Given the description of an element on the screen output the (x, y) to click on. 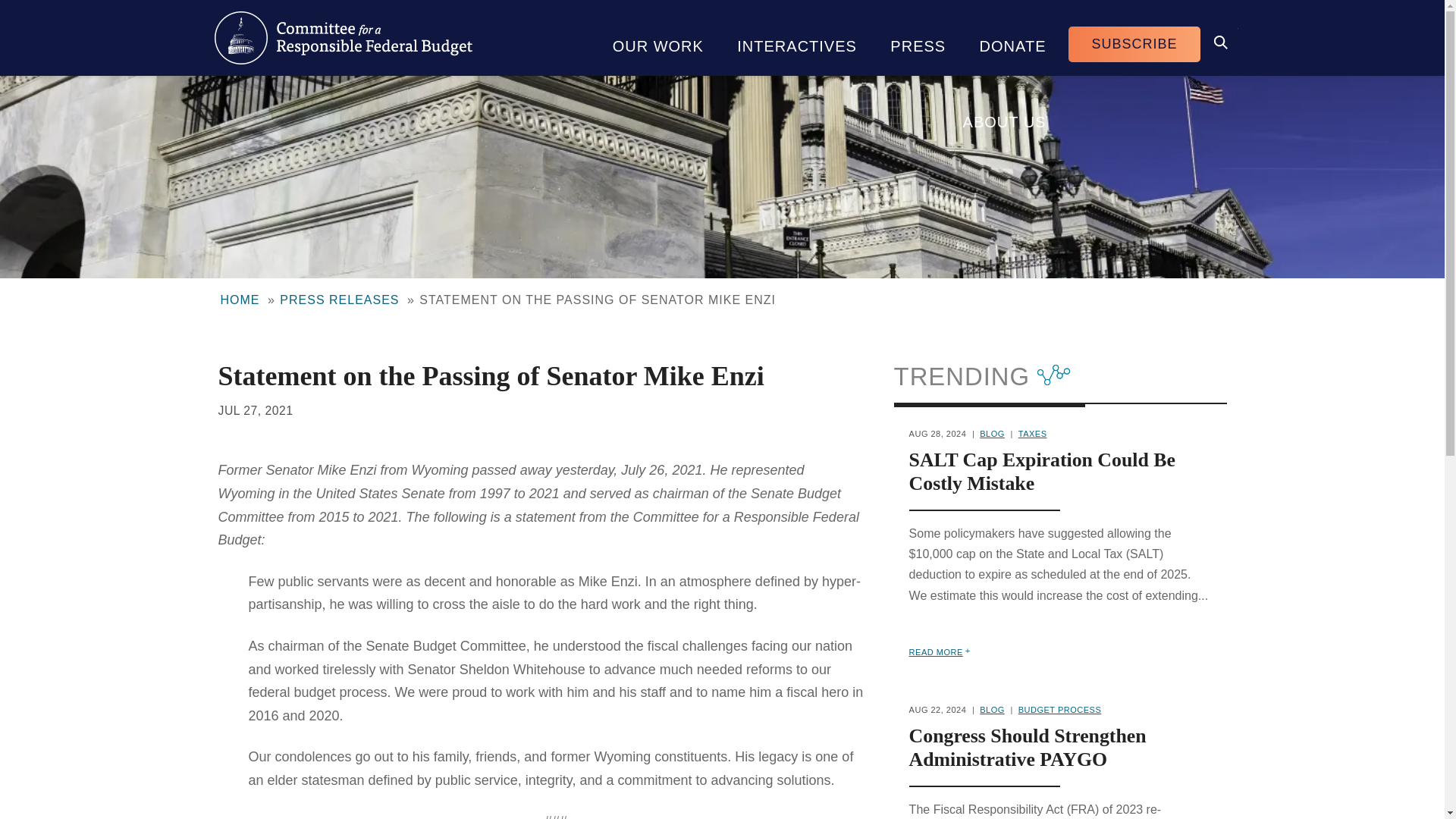
INTERACTIVES (797, 38)
DONATE (1012, 38)
PRESS (917, 38)
OUR WORK (657, 38)
ABOUT US (1004, 113)
Committee for a Responsible Federal Budget (342, 37)
